Given the description of an element on the screen output the (x, y) to click on. 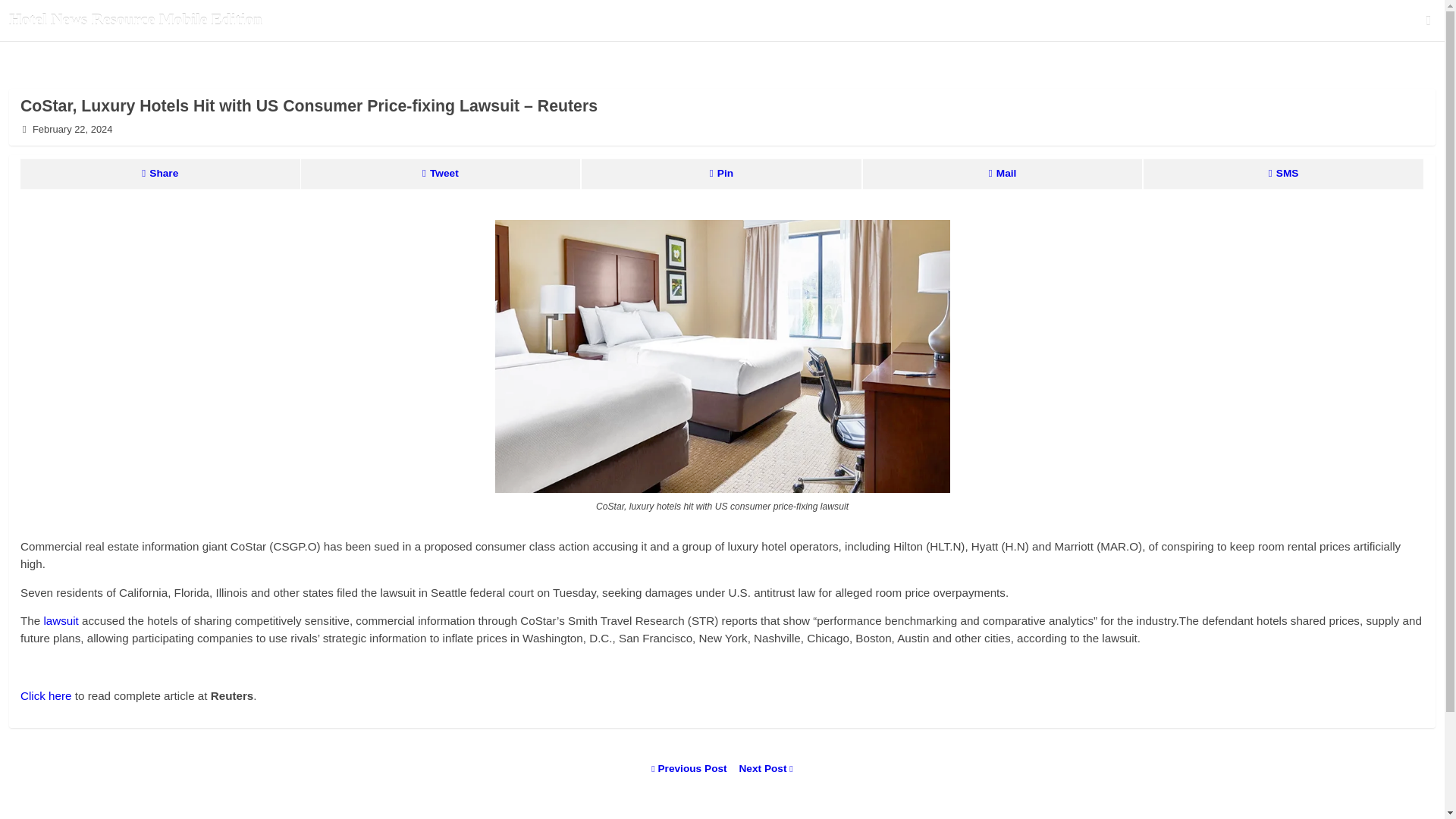
Hotel News Resource Mobile Edition (618, 20)
lawsuit (60, 620)
Click here (45, 695)
Pin (720, 173)
Tweet (439, 173)
Share (159, 173)
Next Post (762, 768)
SMS (1282, 173)
Mail (1001, 173)
Previous Post (689, 768)
